Given the description of an element on the screen output the (x, y) to click on. 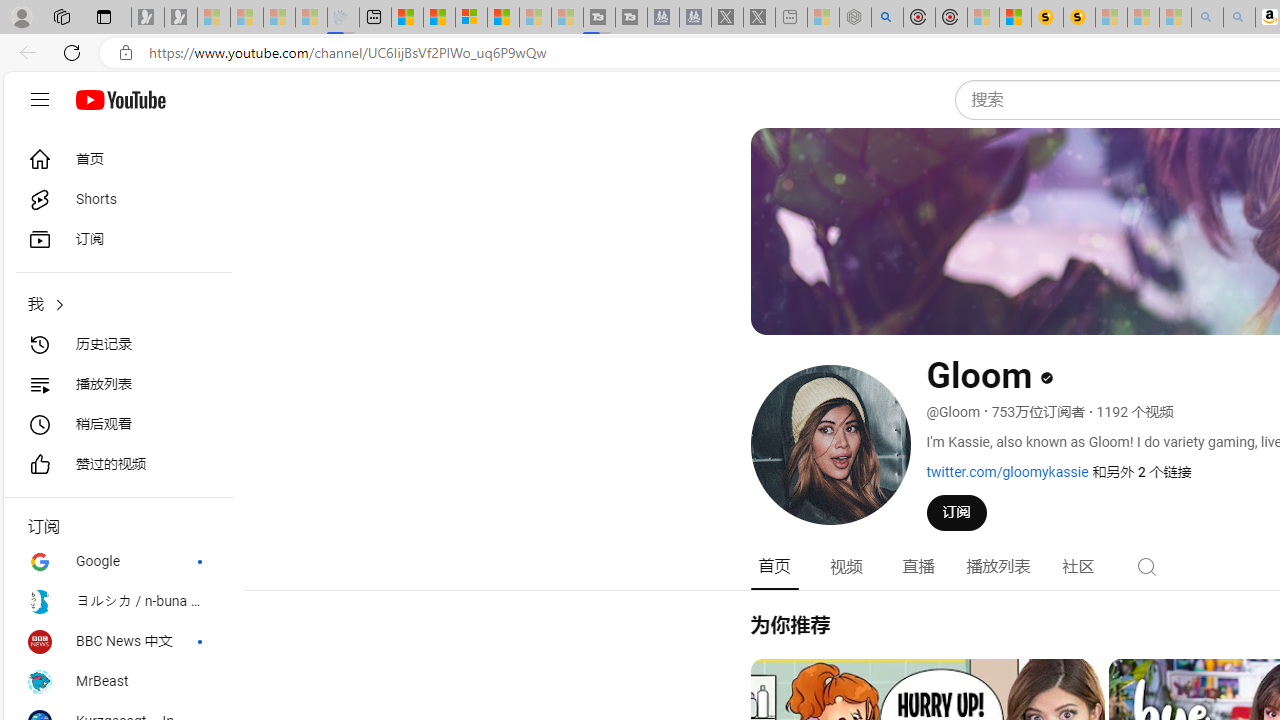
Overview (471, 17)
Workspaces (61, 16)
twitter.com/gloomykassie (1007, 471)
Refresh (72, 52)
Newsletter Sign Up - Sleeping (181, 17)
X - Sleeping (758, 17)
